Given the description of an element on the screen output the (x, y) to click on. 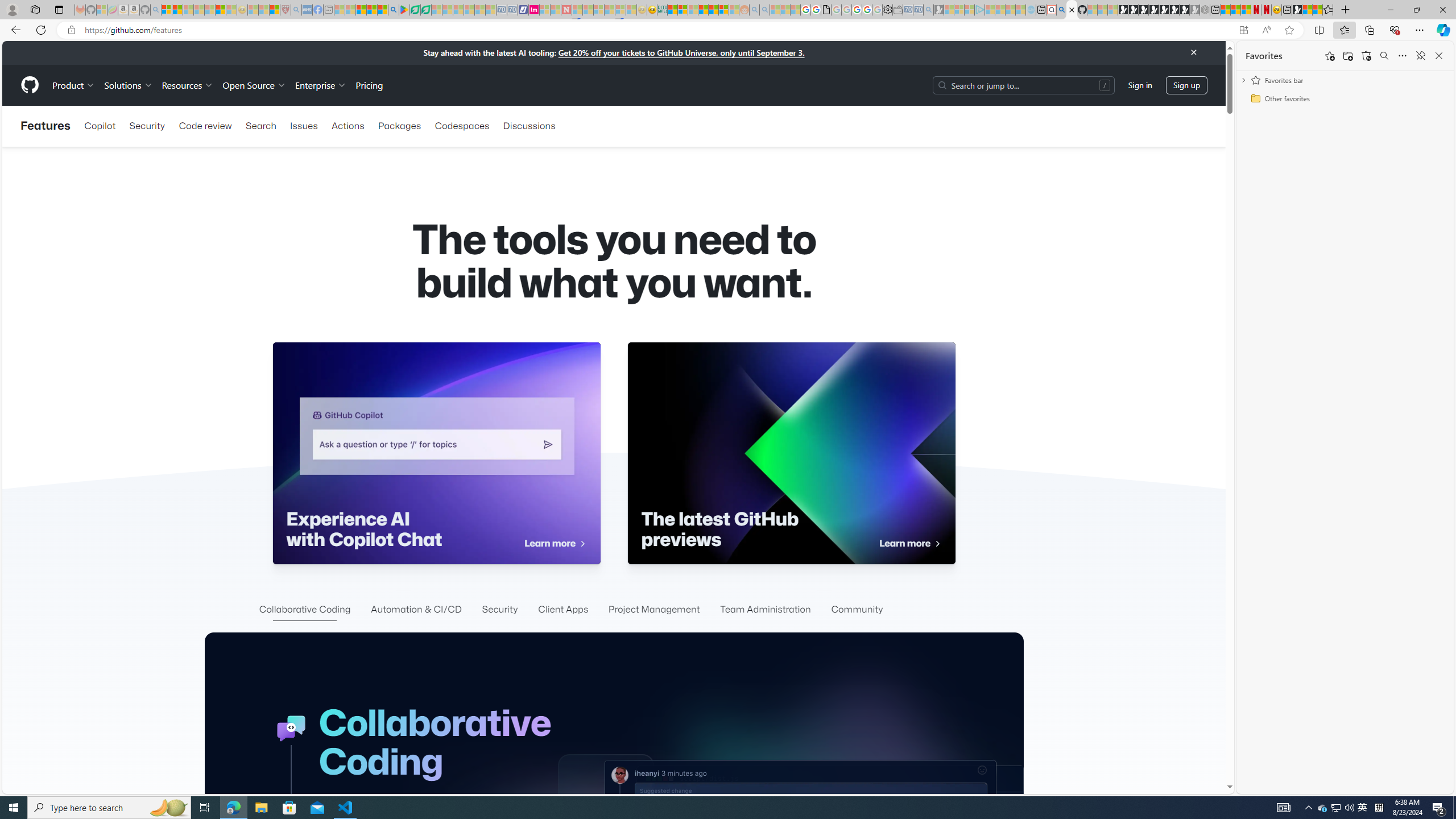
Actions (347, 125)
